Given the description of an element on the screen output the (x, y) to click on. 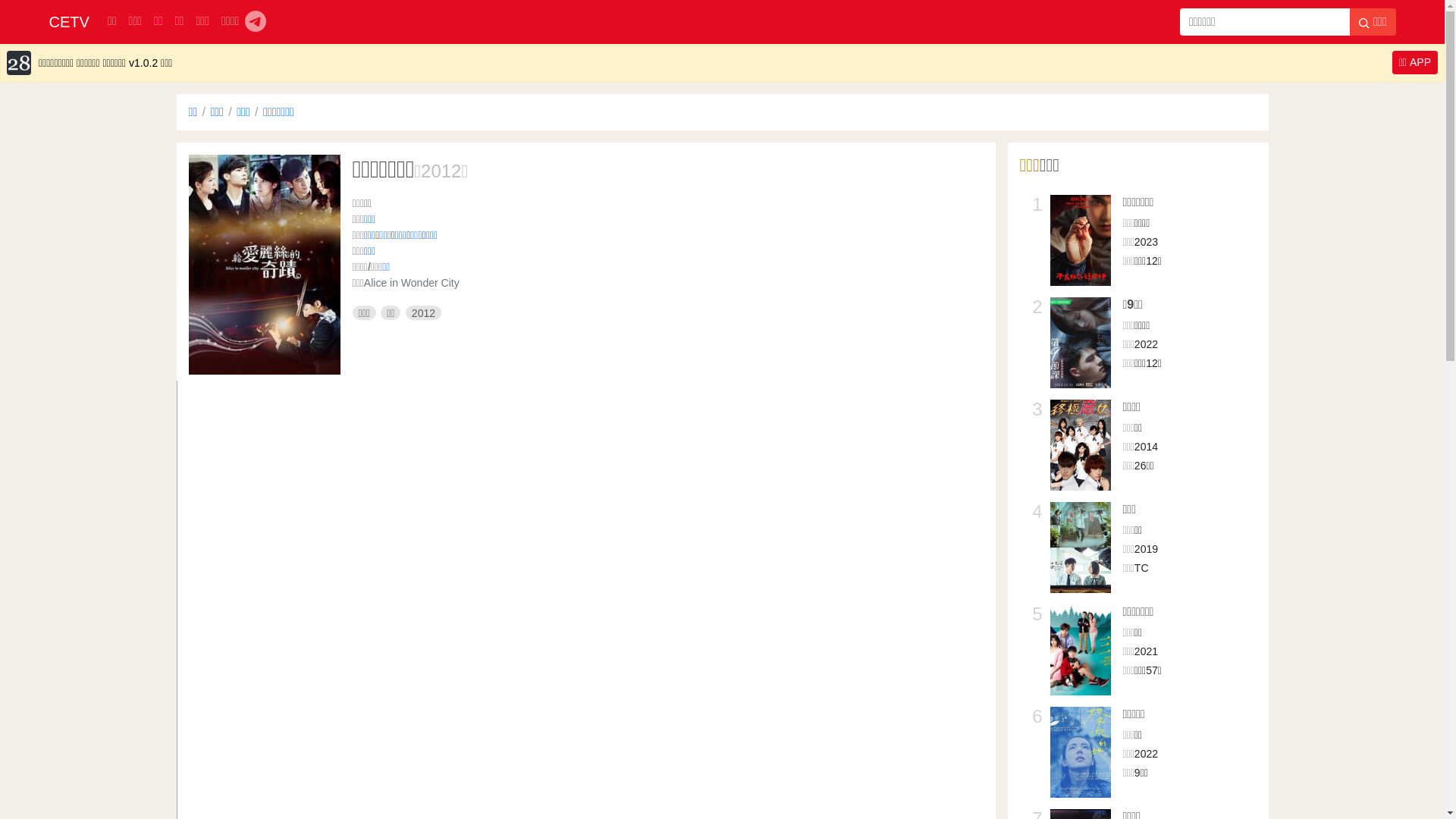
2012 Element type: text (440, 170)
CETV Element type: text (68, 21)
2012 Element type: text (423, 312)
